Given the description of an element on the screen output the (x, y) to click on. 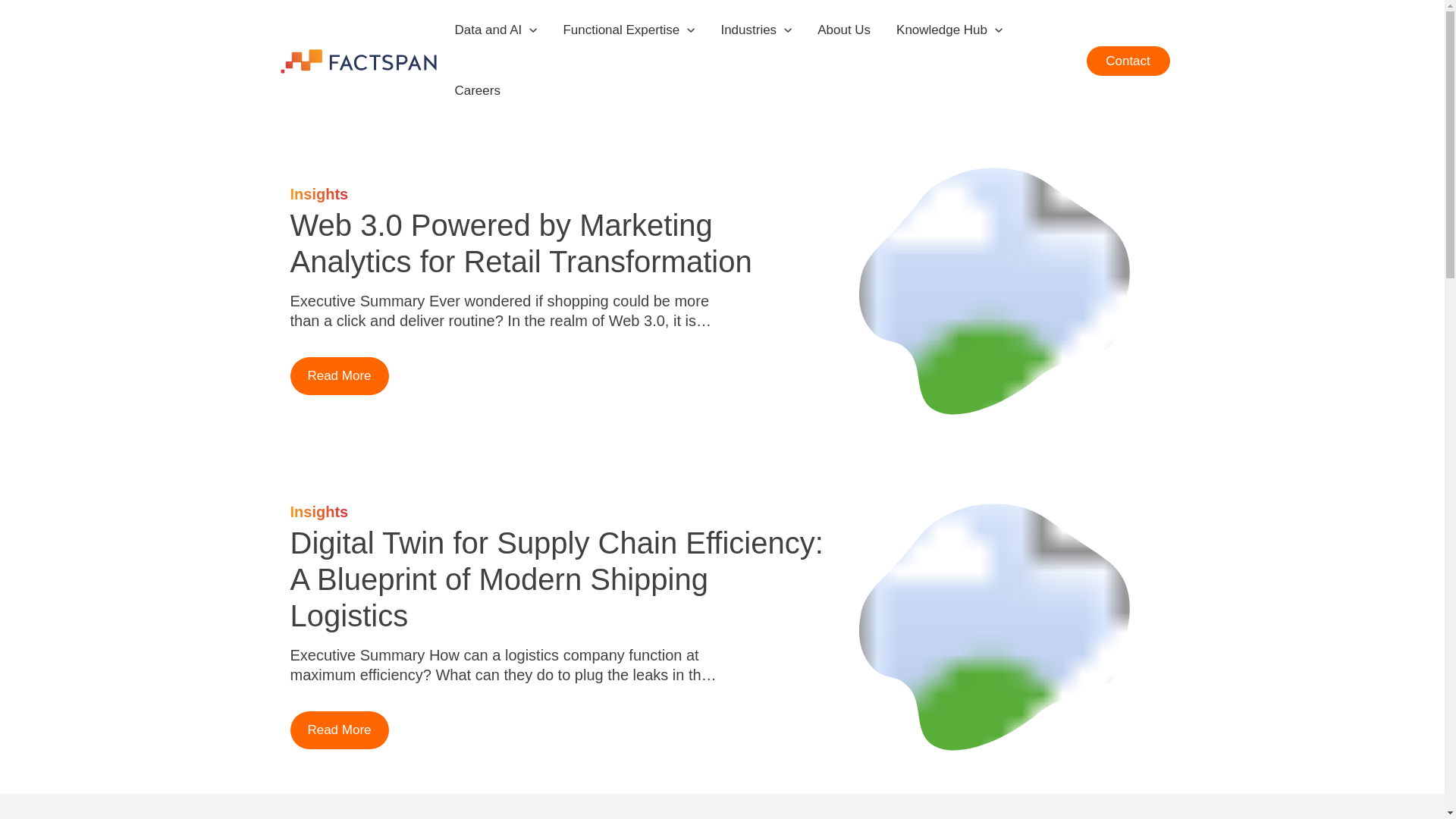
Functional Expertise (628, 29)
Industries (756, 29)
About Us (844, 29)
Read more (338, 375)
Knowledge Hub (948, 29)
Data and AI (495, 29)
Read more (338, 730)
Contact (1127, 60)
